Given the description of an element on the screen output the (x, y) to click on. 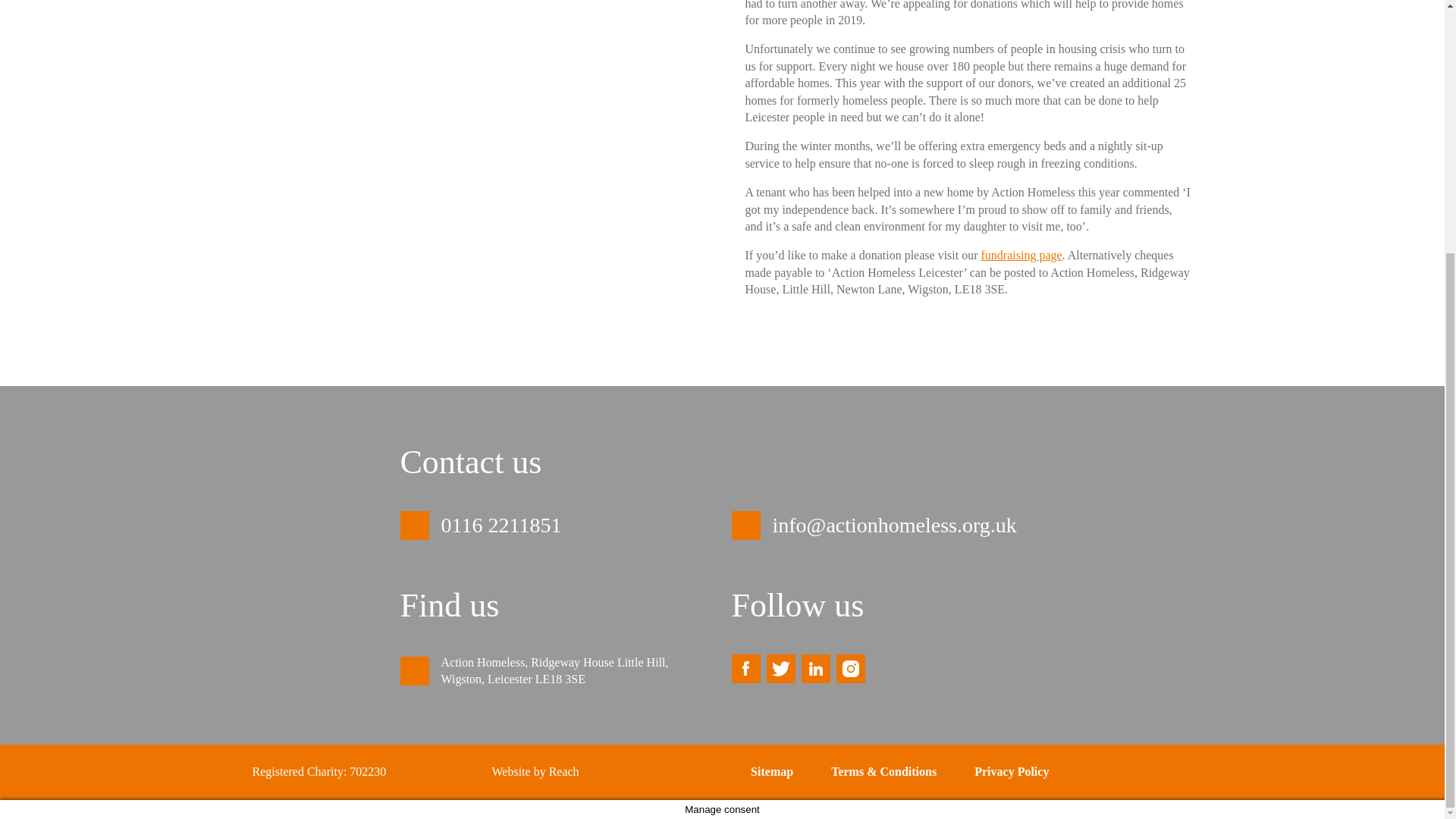
Follow us on Facebook (745, 668)
Follow us on Linkedin (814, 668)
Follow us on Instagram (849, 668)
Follow us on Twitter (779, 668)
